Given the description of an element on the screen output the (x, y) to click on. 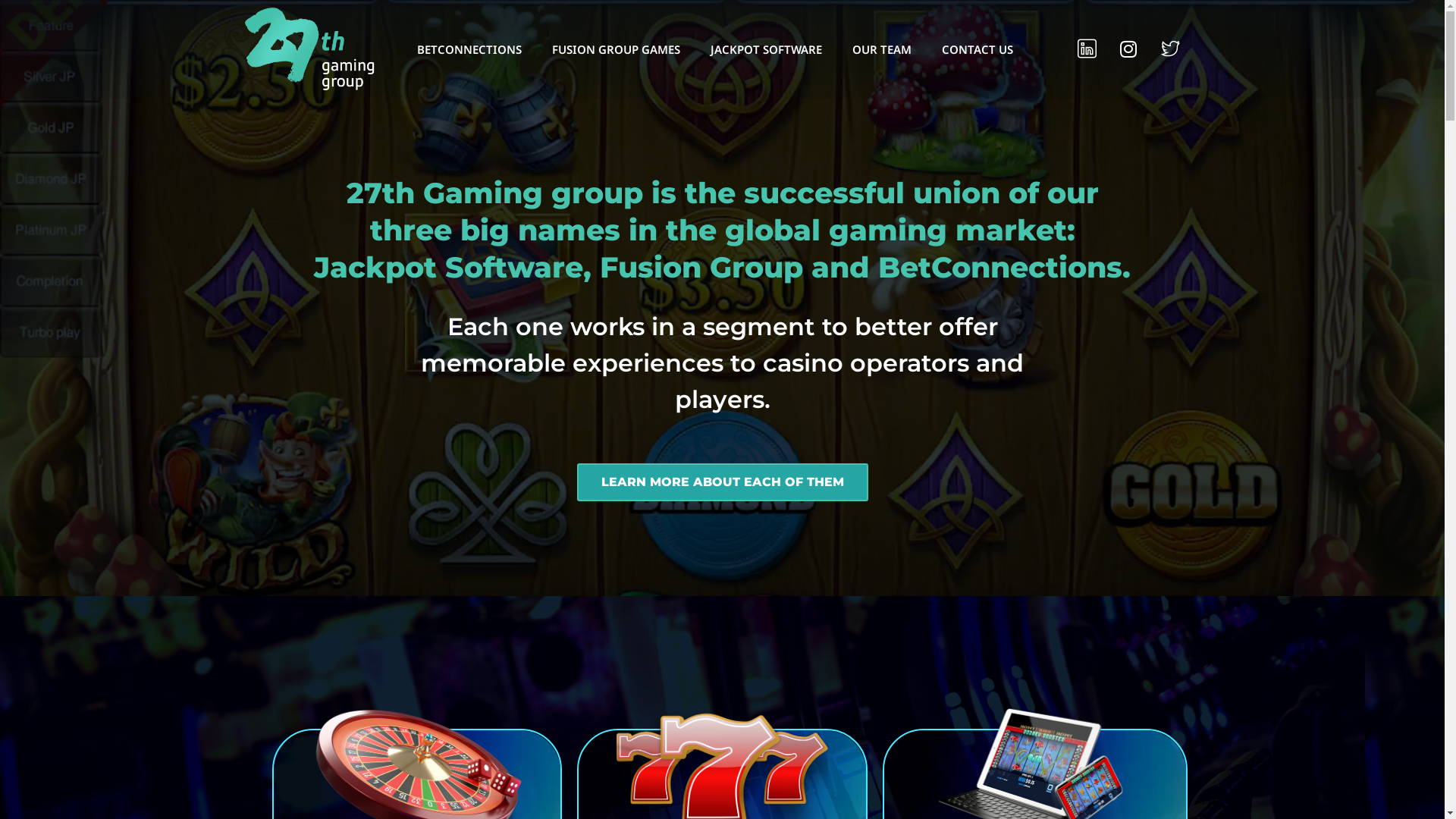
LEARN MORE ABOUT EACH OF THEM Element type: text (721, 482)
OUR TEAM Element type: text (881, 49)
JACKPOT SOFTWARE Element type: text (766, 49)
CONTACT US Element type: text (977, 49)
FUSION GROUP GAMES Element type: text (615, 49)
BETCONNECTIONS Element type: text (468, 49)
